Given the description of an element on the screen output the (x, y) to click on. 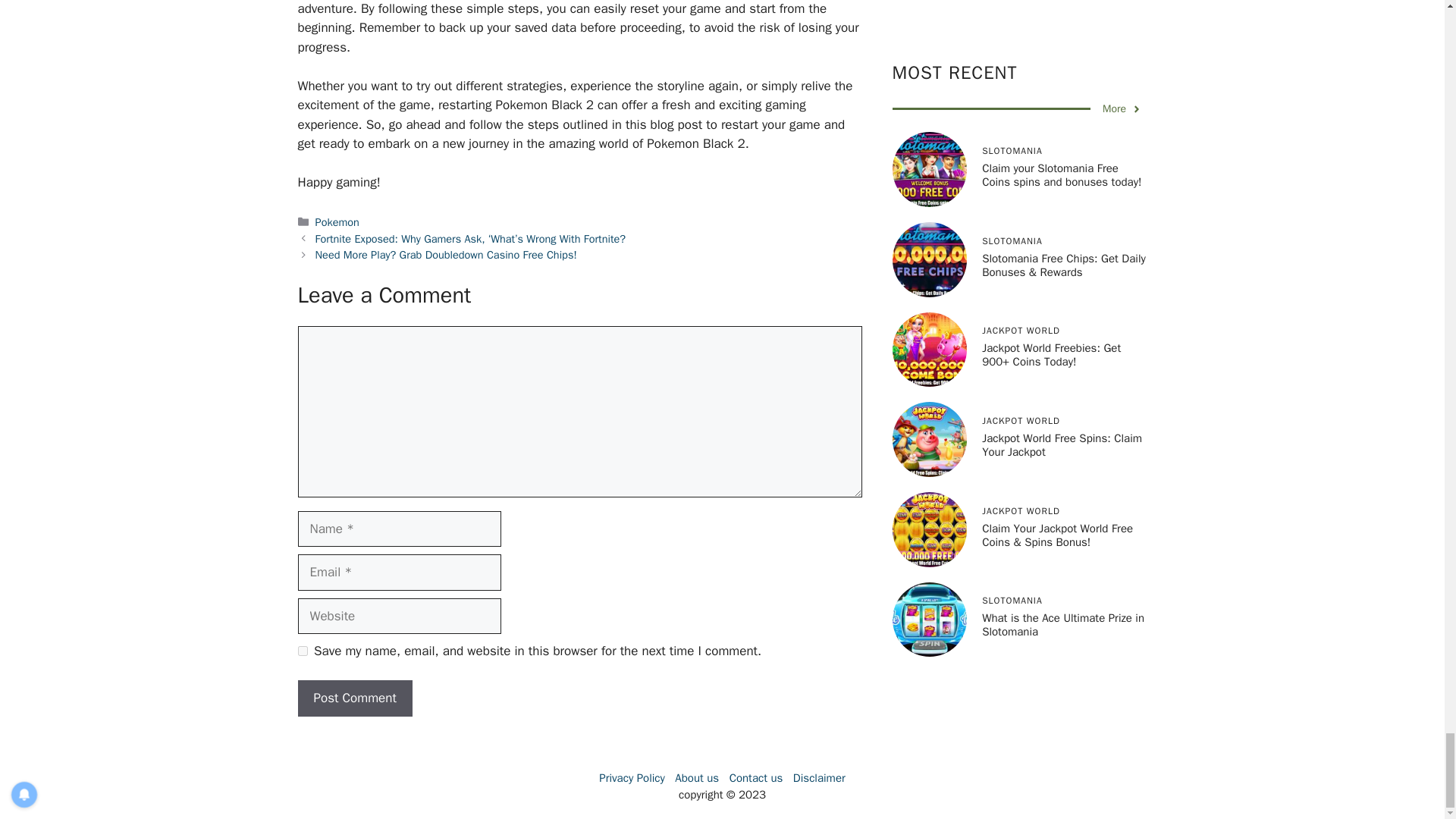
About us (697, 777)
Need More Play? Grab Doubledown Casino Free Chips! (445, 254)
Post Comment (354, 698)
Post Comment (354, 698)
yes (302, 651)
Privacy Policy (631, 777)
Contact us (756, 777)
Pokemon (337, 222)
